Given the description of an element on the screen output the (x, y) to click on. 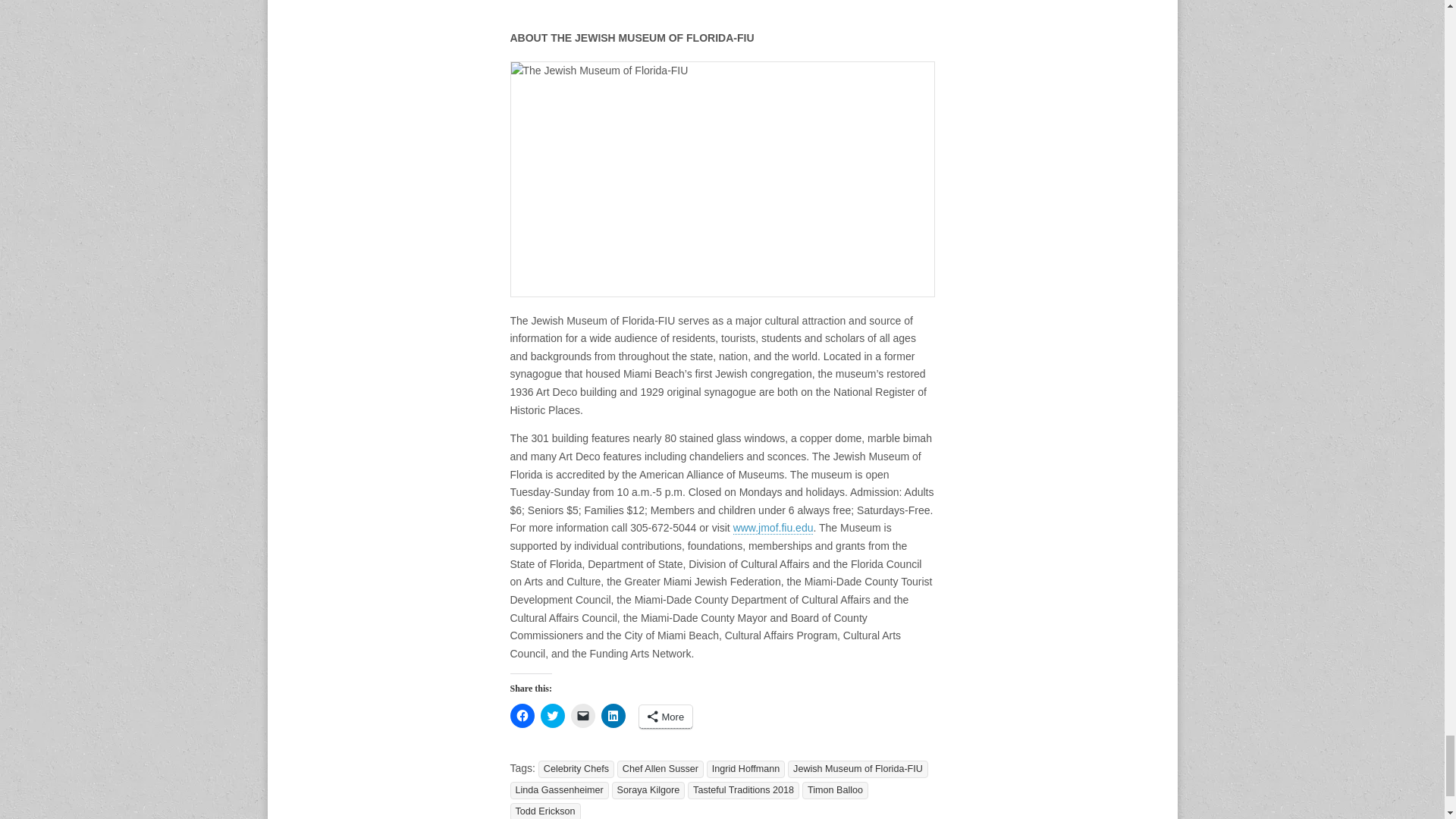
www.jmof.fiu.edu (773, 527)
Timon Balloo (834, 790)
More (666, 716)
Celebrity Chefs (576, 769)
Click to share on Facebook (521, 715)
Ingrid Hoffmann (745, 769)
Jewish Museum of Florida-FIU (857, 769)
Soraya Kilgore (648, 790)
Linda Gassenheimer (558, 790)
Click to share on LinkedIn (611, 715)
Click to share on Twitter (552, 715)
Click to email a link to a friend (582, 715)
Todd Erickson (544, 811)
Tasteful Traditions 2018 (743, 790)
Chef Allen Susser (660, 769)
